Given the description of an element on the screen output the (x, y) to click on. 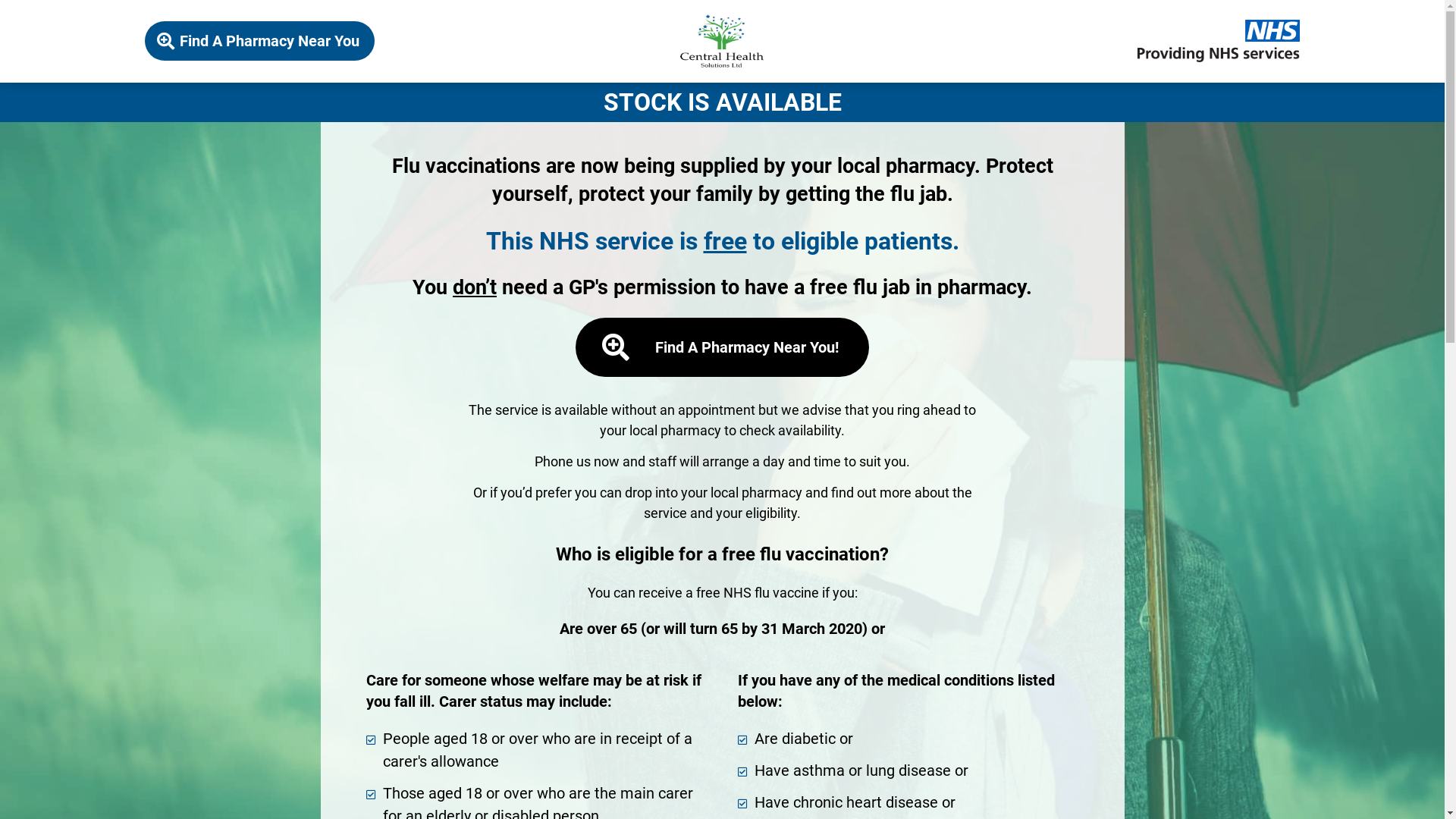
Find A Pharmacy Near You! Element type: text (722, 346)
Find A Pharmacy Near You Element type: text (258, 40)
